Given the description of an element on the screen output the (x, y) to click on. 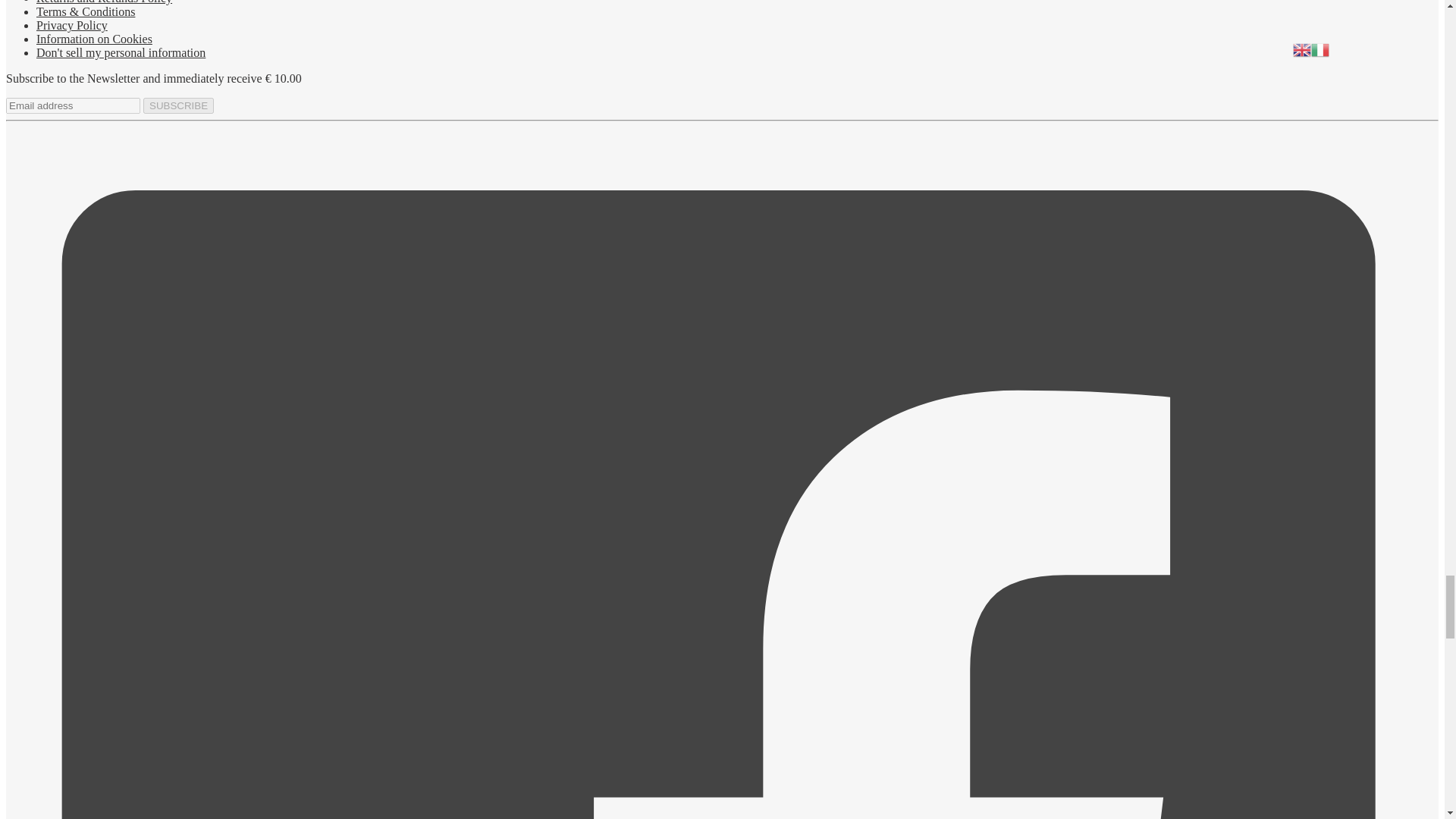
Returns and Refunds Policy (103, 2)
Information on Cookies (94, 38)
Don't sell my personal information (120, 51)
Privacy Policy (71, 24)
SUBSCRIBE (178, 105)
